Given the description of an element on the screen output the (x, y) to click on. 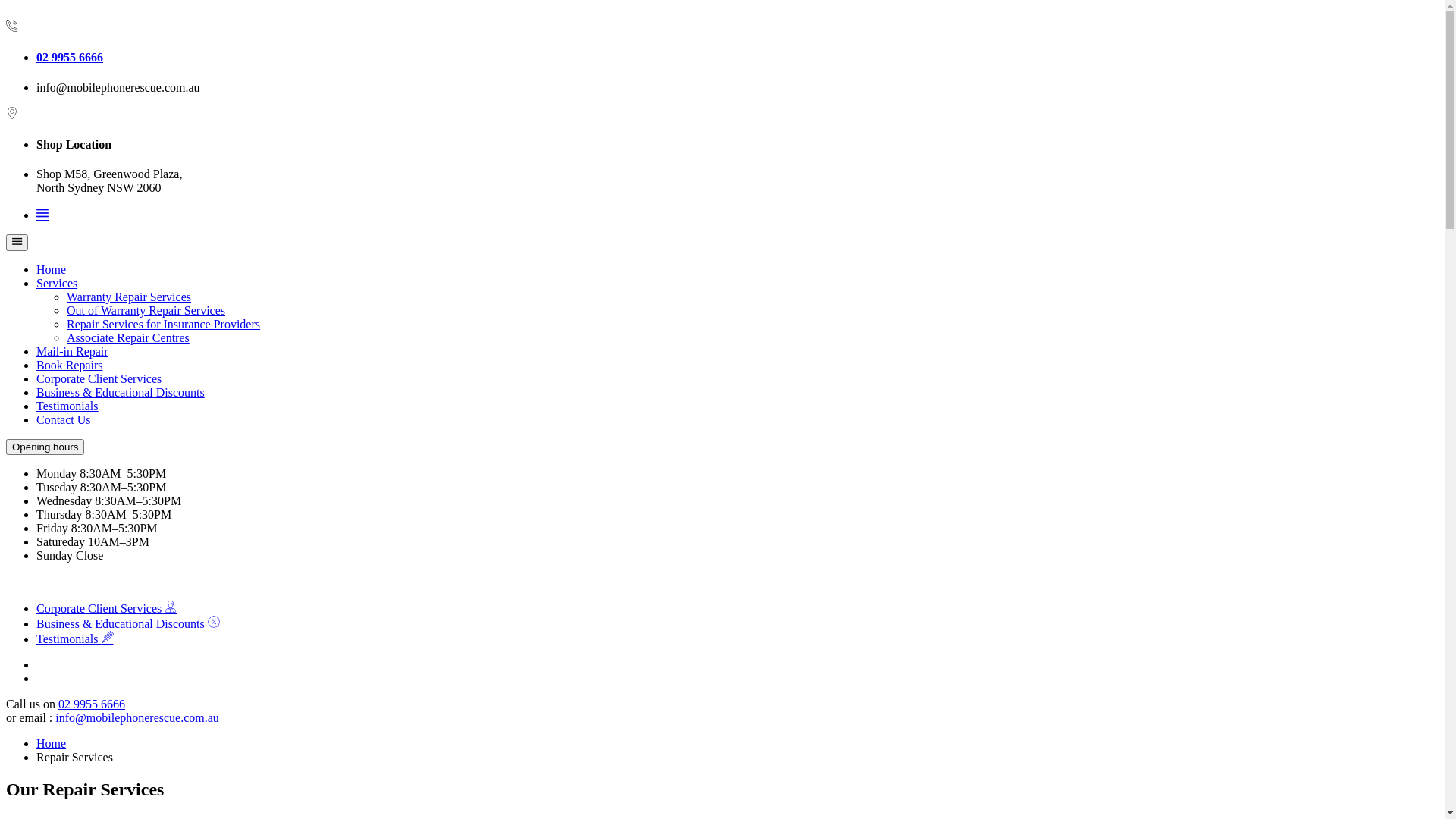
Testimonials Element type: text (67, 405)
Services Element type: text (56, 282)
Opening hours Element type: text (45, 447)
Out of Warranty Repair Services Element type: text (145, 310)
Repair Services for Insurance Providers Element type: text (163, 323)
Book Repairs Element type: text (69, 364)
Contact Us Element type: text (63, 419)
Corporate Client Services Element type: text (98, 378)
02 9955 6666 Element type: text (737, 57)
Business & Educational Discounts Element type: text (120, 391)
info@mobilephonerescue.com.au Element type: text (137, 717)
02 9955 6666 Element type: text (91, 703)
Mail-in Repair Element type: text (72, 351)
Testimonials Element type: text (74, 638)
Home Element type: text (50, 743)
Warranty Repair Services Element type: text (128, 296)
Home Element type: text (50, 269)
Corporate Client Services Element type: text (106, 608)
Business & Educational Discounts Element type: text (127, 623)
Associate Repair Centres Element type: text (127, 337)
